Given the description of an element on the screen output the (x, y) to click on. 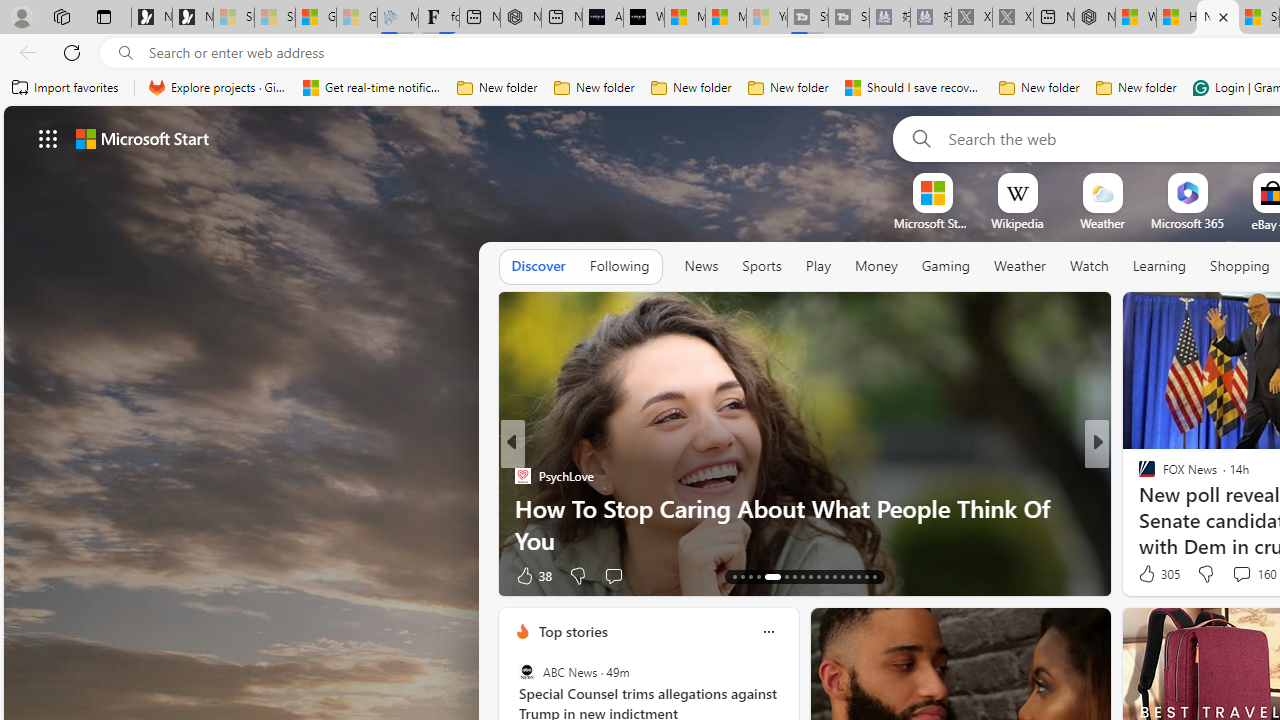
AutomationID: tab-43 (874, 576)
Shopping (1240, 265)
3k Like (1148, 574)
